Given the description of an element on the screen output the (x, y) to click on. 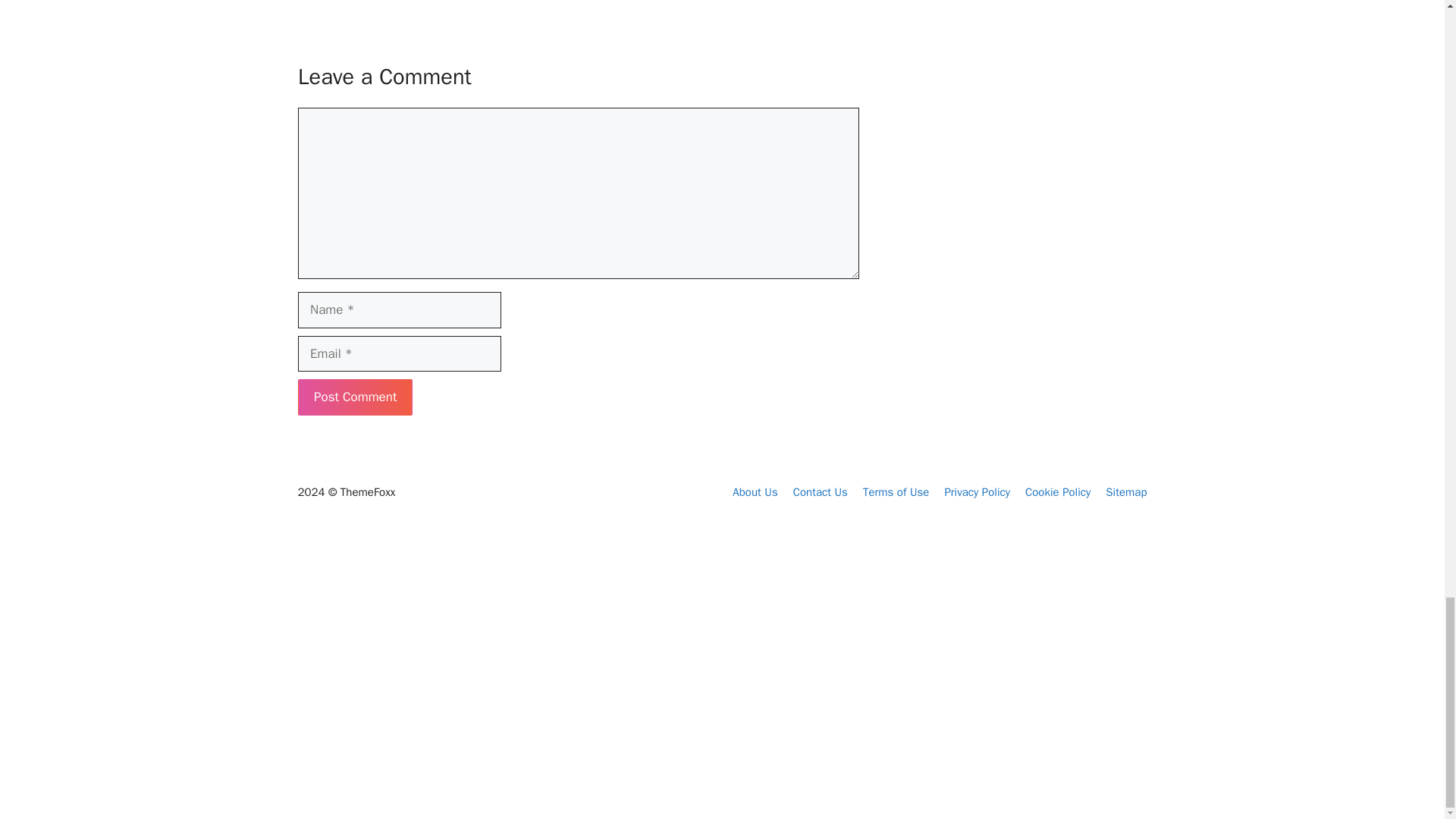
Download iPad Pro 2017 Stock Wallpapers 8 (364, 667)
Download iOS 11.2 Stock Wallpapers 9 (546, 657)
Download iPad Pro 2017 Stock Wallpapers (364, 698)
Download iOS 11.2 Stock Wallpapers (554, 677)
